Given the description of an element on the screen output the (x, y) to click on. 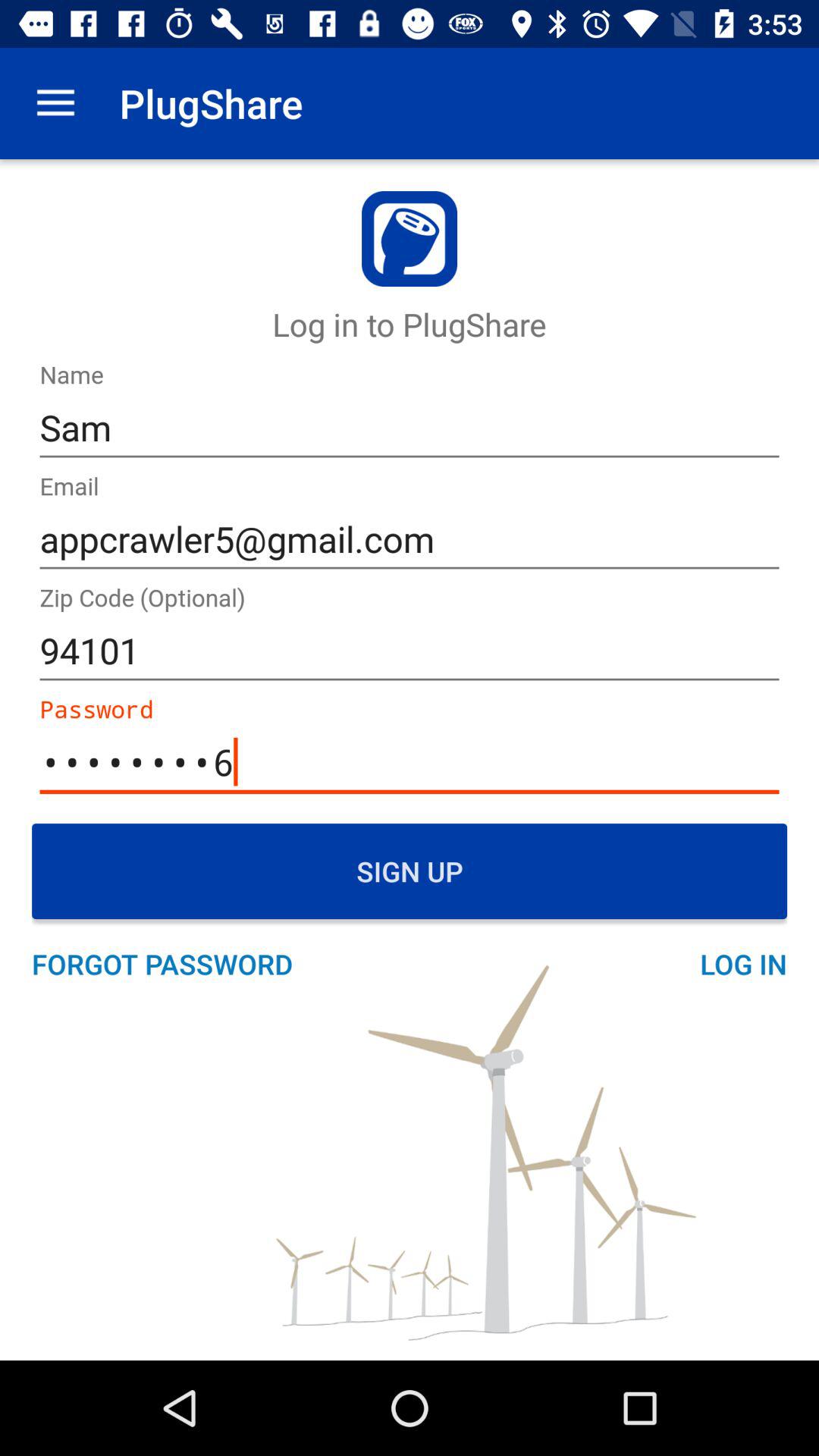
click on sign up button (409, 871)
click on forgot password (169, 964)
click on zip code optional text box (409, 651)
select the text box which says password (409, 762)
click on the text immediately below name (409, 428)
select log in button which is after forgot password (735, 964)
